Given the description of an element on the screen output the (x, y) to click on. 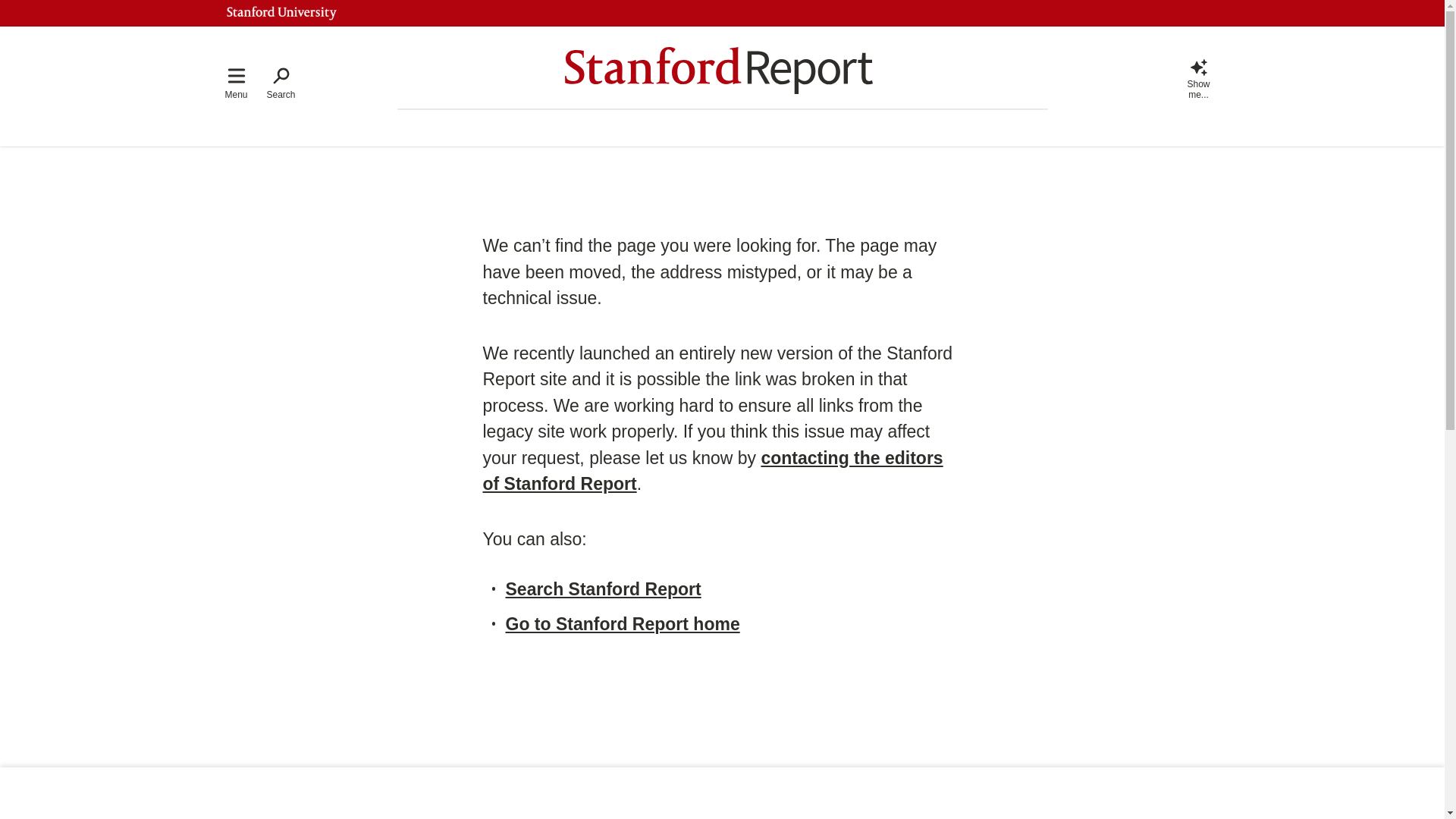
Show me... (1198, 77)
Search Stanford Report (602, 588)
contacting the editors of Stanford Report (711, 470)
